Given the description of an element on the screen output the (x, y) to click on. 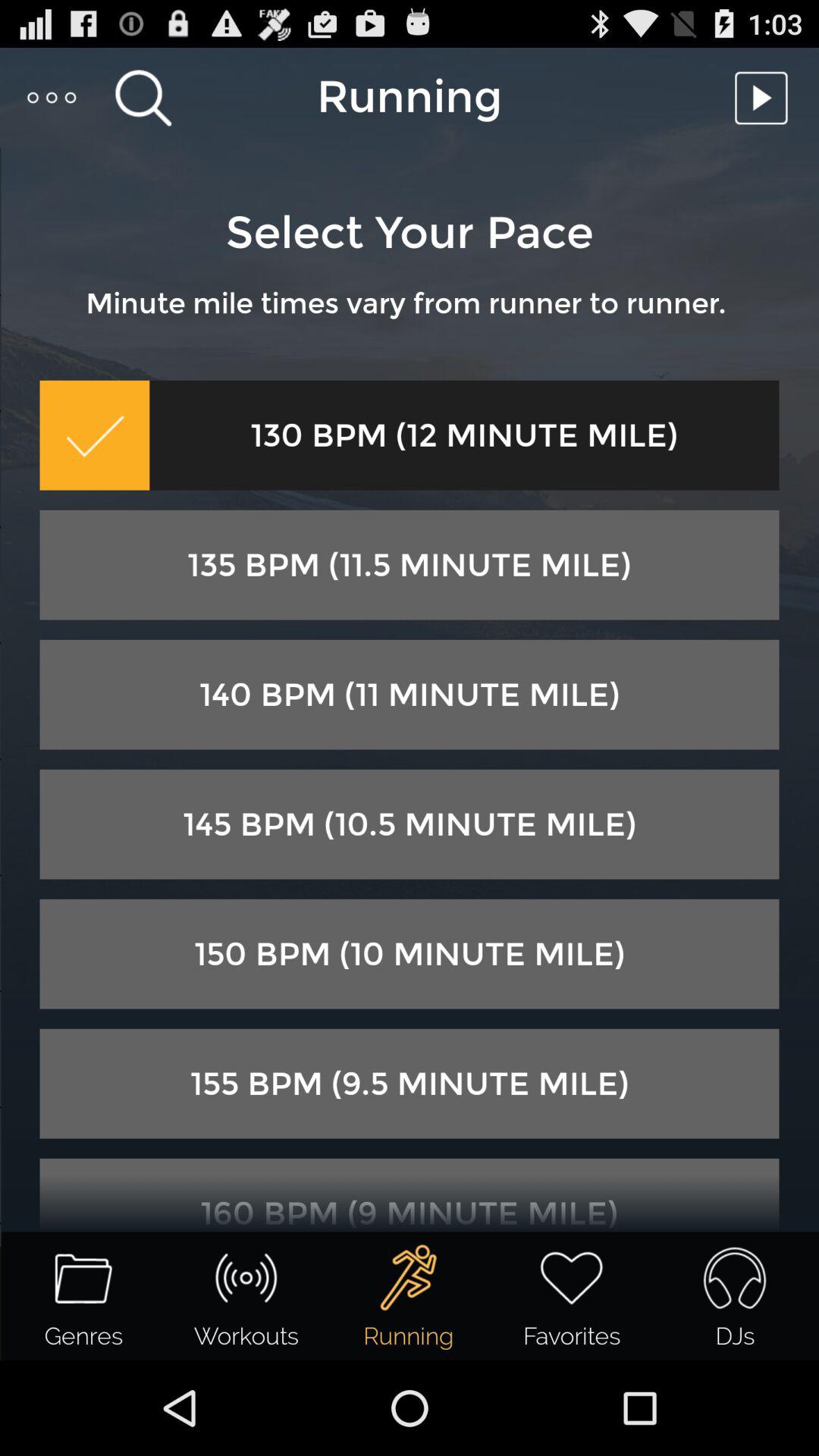
press the item above the select your pace item (765, 97)
